Given the description of an element on the screen output the (x, y) to click on. 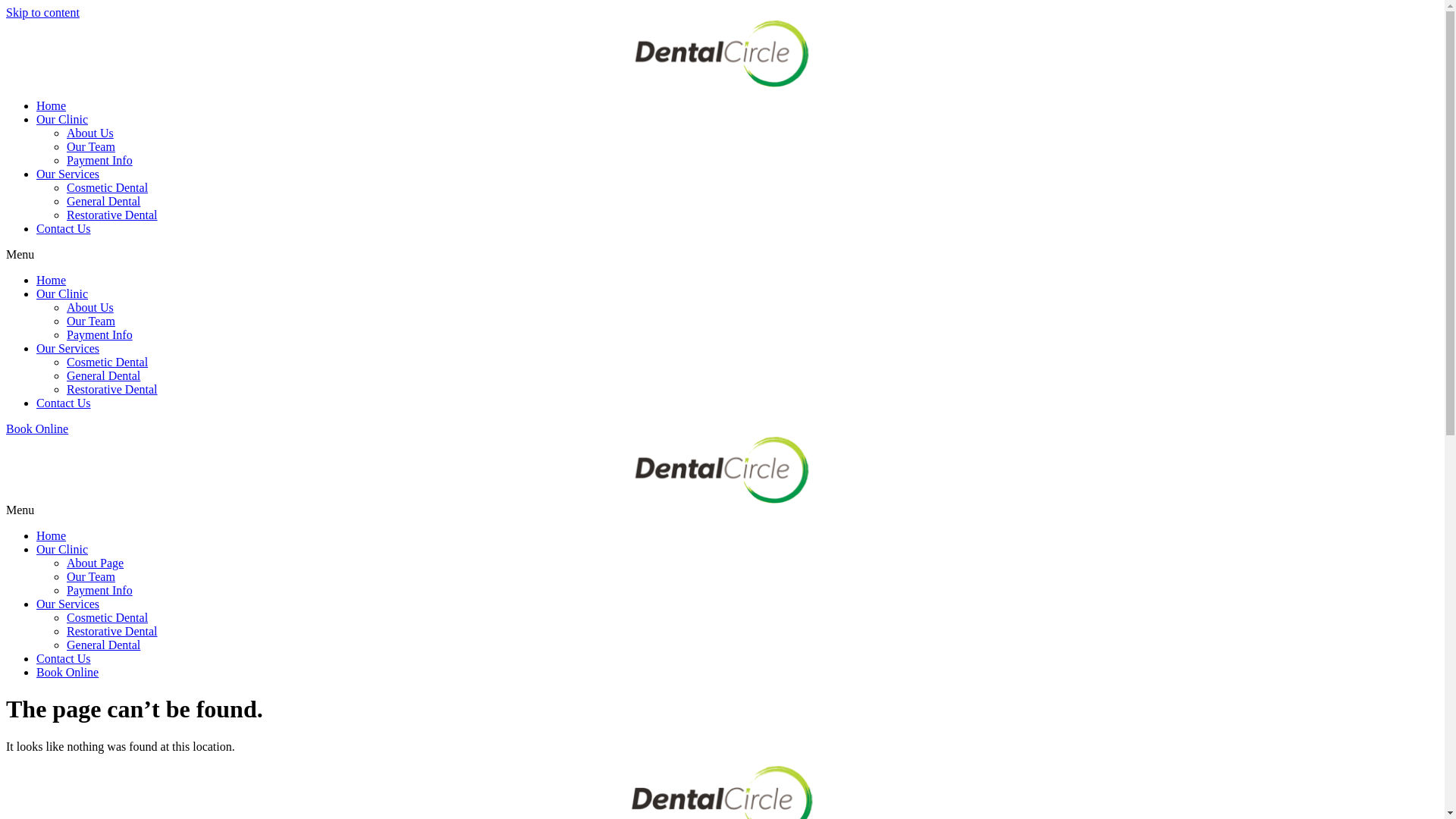
Payment Info Element type: text (99, 334)
Cosmetic Dental Element type: text (106, 617)
Our Clinic Element type: text (61, 293)
About Page Element type: text (94, 562)
Home Element type: text (50, 279)
Our Services Element type: text (67, 603)
Skip to content Element type: text (42, 12)
Cosmetic Dental Element type: text (106, 361)
Our Team Element type: text (90, 576)
Book Online Element type: text (67, 671)
Payment Info Element type: text (99, 589)
About Us Element type: text (89, 307)
General Dental Element type: text (103, 644)
Home Element type: text (50, 535)
Restorative Dental Element type: text (111, 388)
Our Team Element type: text (90, 146)
About Us Element type: text (89, 132)
Contact Us Element type: text (63, 228)
Home Element type: text (50, 105)
Payment Info Element type: text (99, 159)
Restorative Dental Element type: text (111, 630)
Our Clinic Element type: text (61, 118)
General Dental Element type: text (103, 375)
Our Services Element type: text (67, 348)
General Dental Element type: text (103, 200)
Contact Us Element type: text (63, 658)
Our Services Element type: text (67, 173)
Contact Us Element type: text (63, 402)
Cosmetic Dental Element type: text (106, 187)
Book Online Element type: text (37, 428)
Restorative Dental Element type: text (111, 214)
Our Clinic Element type: text (61, 548)
Our Team Element type: text (90, 320)
